Given the description of an element on the screen output the (x, y) to click on. 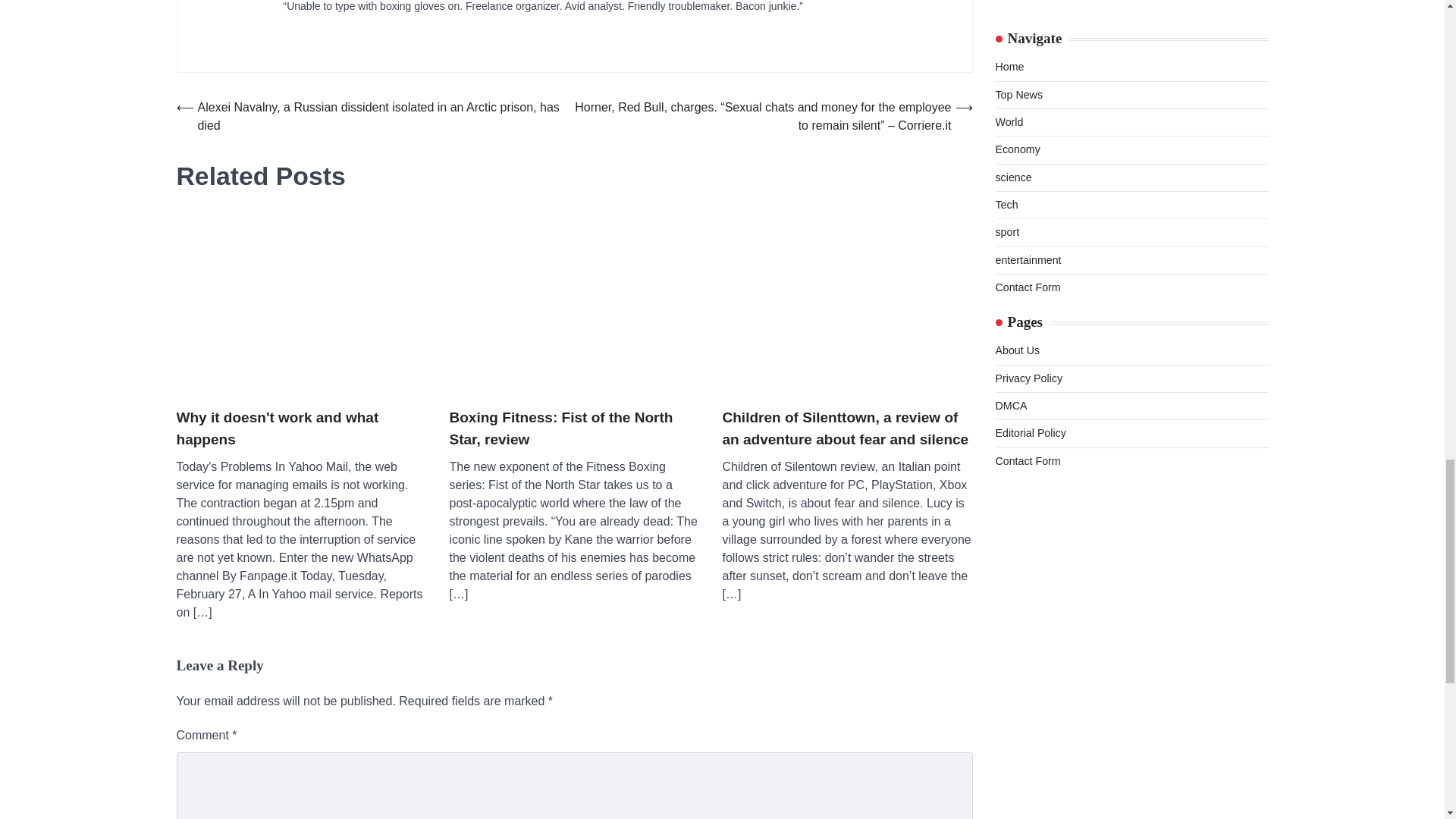
Boxing Fitness: Fist of the North Star, review (573, 304)
Boxing Fitness: Fist of the North Star, review (573, 428)
Why it doesn't work and what happens (301, 428)
Why it doesn't work and what happens (301, 304)
